Given the description of an element on the screen output the (x, y) to click on. 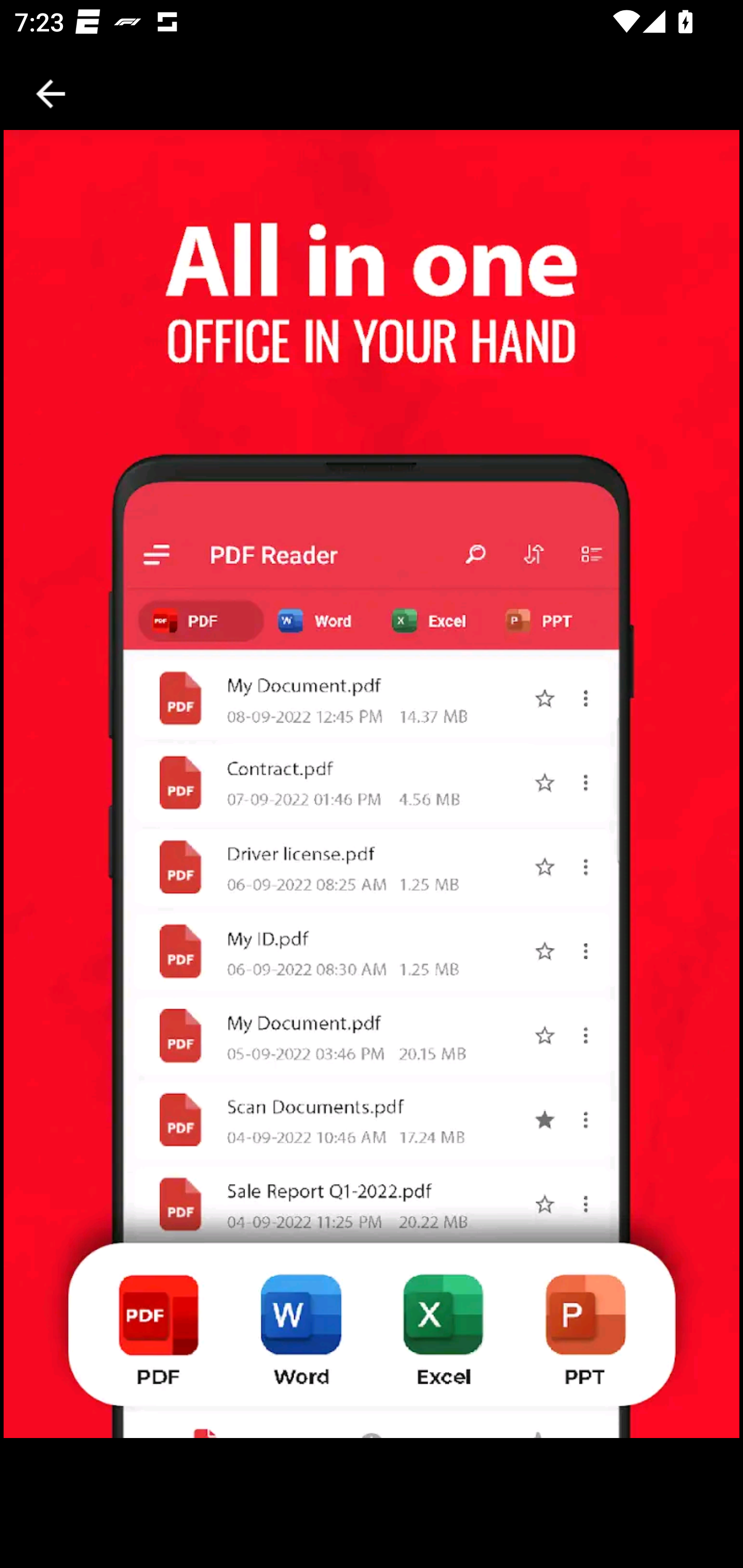
Back (50, 93)
